Given the description of an element on the screen output the (x, y) to click on. 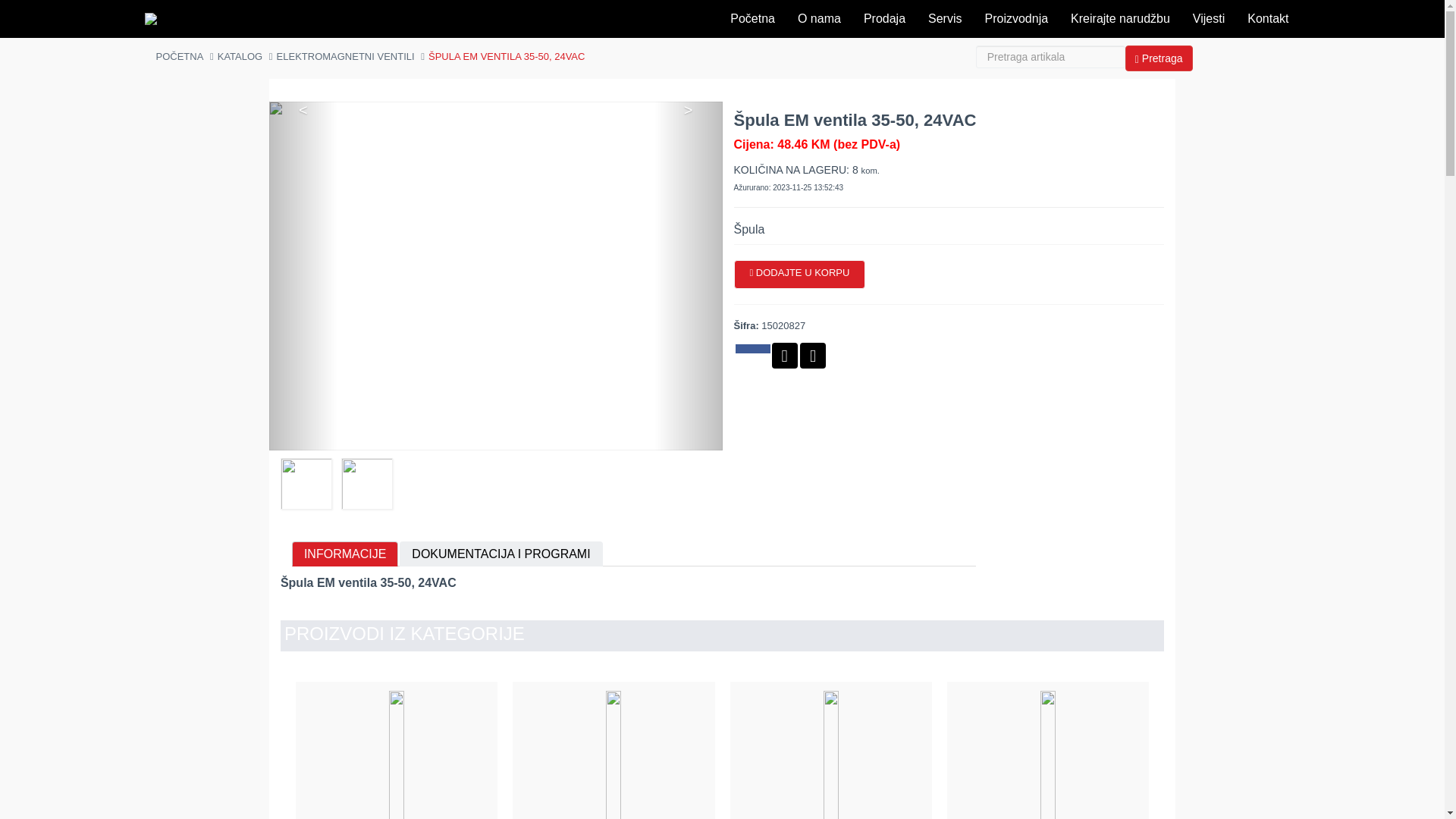
> Element type: text (688, 275)
Servis Element type: text (944, 18)
KATALOG Element type: text (239, 56)
Pretraga Element type: text (1158, 58)
DOKUMENTACIJA I PROGRAMI Element type: text (500, 553)
O nama Element type: text (819, 18)
Vijesti Element type: text (1208, 18)
Proizvodnja Element type: text (1015, 18)
ELEKTROMAGNETNI VENTILI Element type: text (345, 56)
INFORMACIJE Element type: text (344, 553)
< Element type: text (303, 275)
Prodaja Element type: text (884, 18)
Kontakt Element type: text (1267, 18)
DODAJTE U KORPU Element type: text (800, 274)
